Given the description of an element on the screen output the (x, y) to click on. 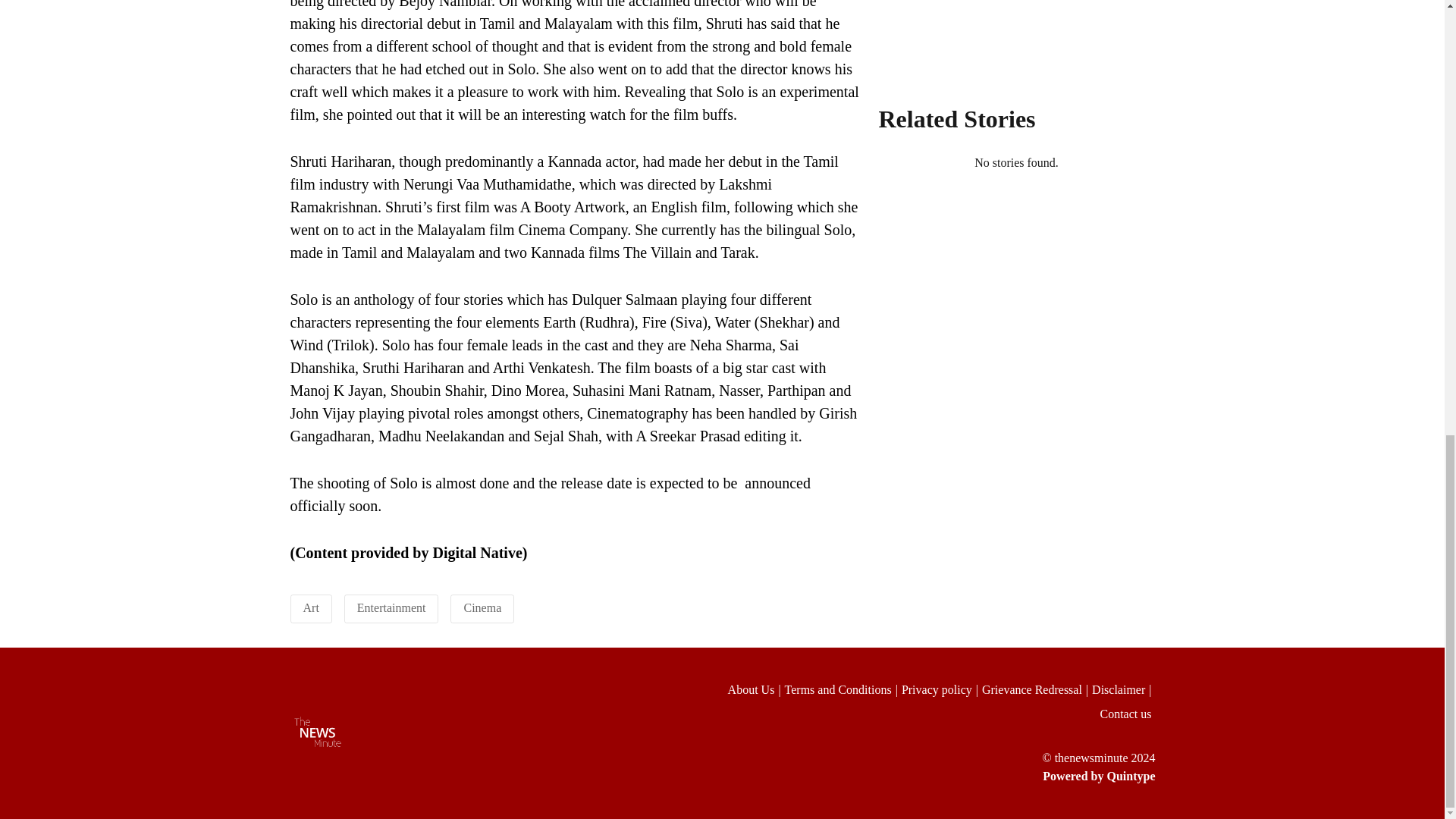
Disclaimer (1123, 689)
Contact us (1126, 713)
Terms and Conditions (842, 689)
Grievance Redressal (1036, 689)
Entertainment (391, 607)
About Us (756, 689)
Cinema (481, 607)
Privacy policy (941, 689)
Art (310, 607)
Powered by Quintype (928, 776)
